Given the description of an element on the screen output the (x, y) to click on. 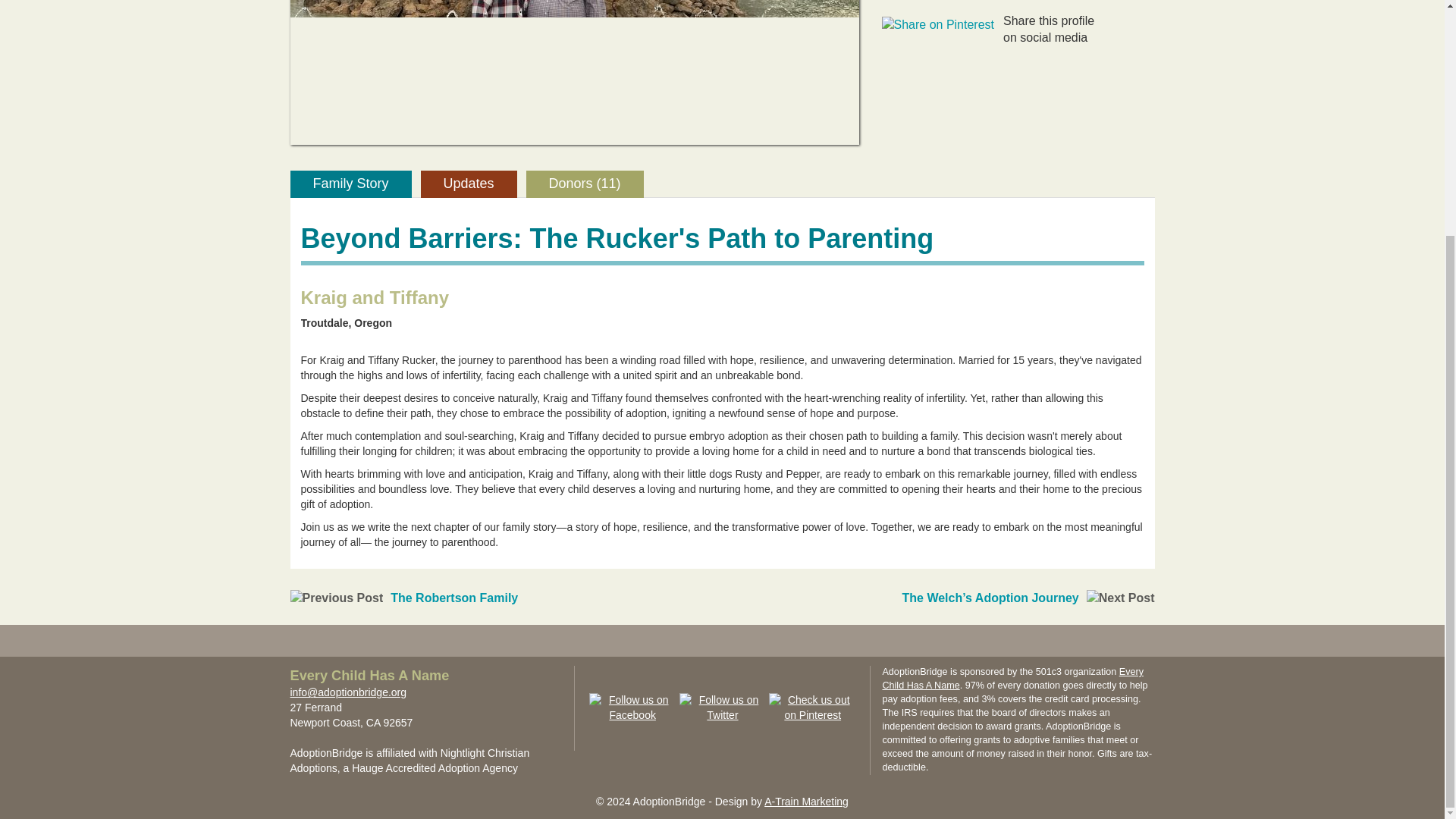
A-Train Marketing (806, 801)
Every Child Has A Name (368, 676)
Updates (468, 184)
Every Child Has A Name (1012, 678)
The Robertson Family (454, 597)
Family Story (349, 184)
